Given the description of an element on the screen output the (x, y) to click on. 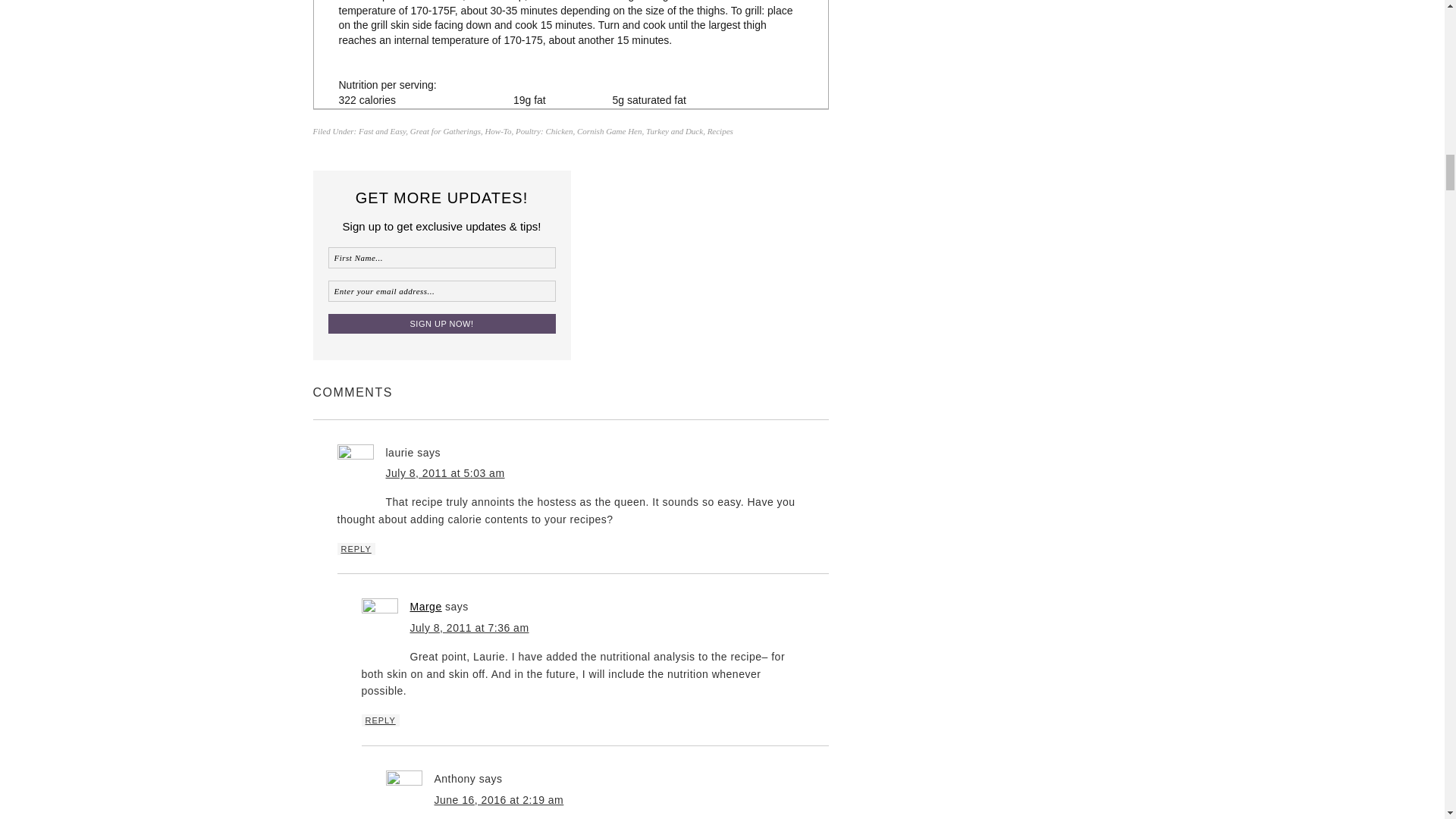
Fast and Easy (382, 130)
Great for Gatherings (445, 130)
How-To (497, 130)
Poultry: Chicken, Cornish Game Hen, Turkey and Duck (609, 130)
Sign Up Now! (440, 323)
